Given the description of an element on the screen output the (x, y) to click on. 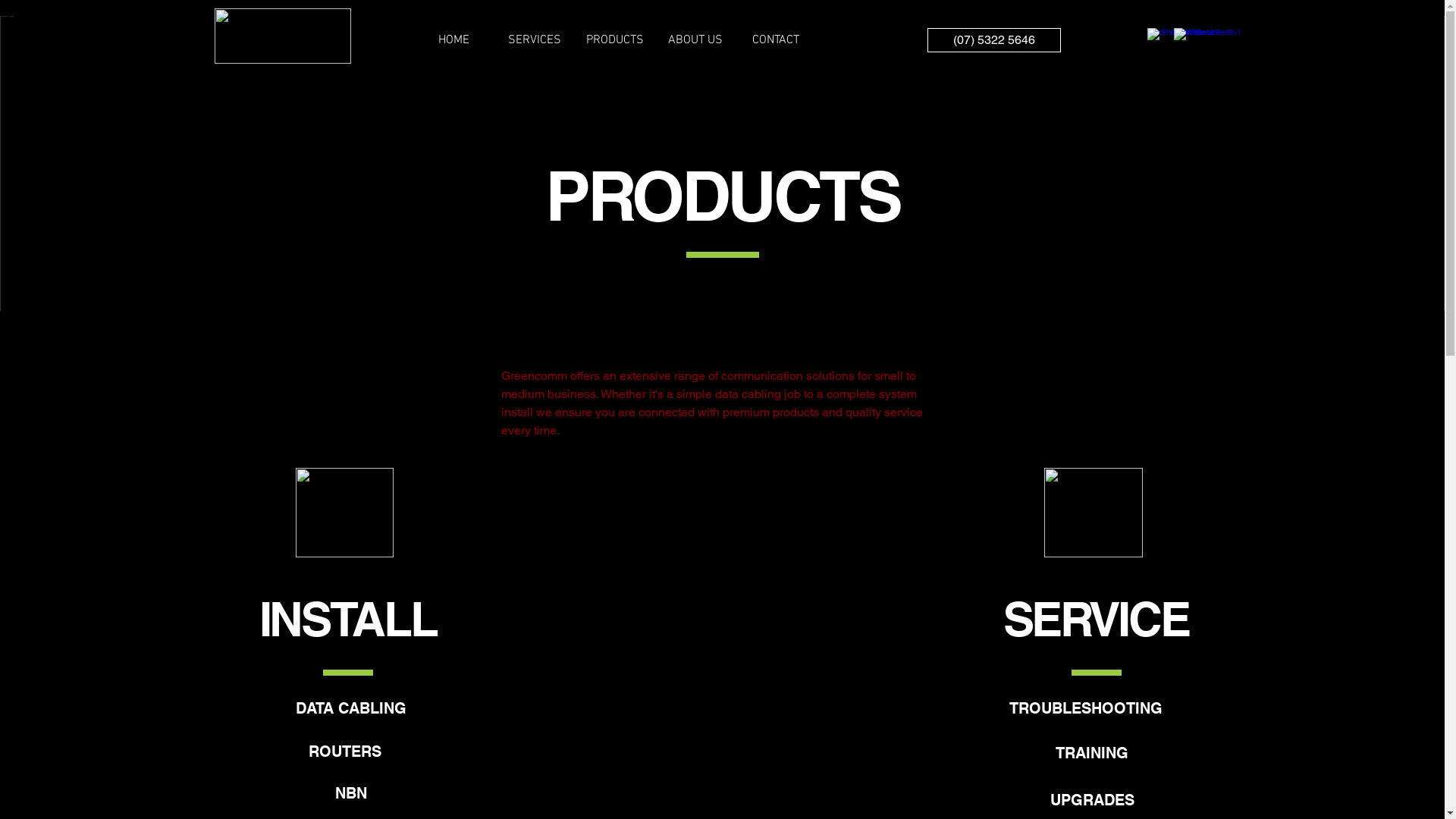
ABOUT US Element type: text (695, 40)
(07) 5322 5646 Element type: text (993, 40)
PRODUCTS Element type: text (614, 40)
HOME Element type: text (454, 40)
CONTACT Element type: text (775, 40)
SERVICES Element type: text (534, 40)
